Given the description of an element on the screen output the (x, y) to click on. 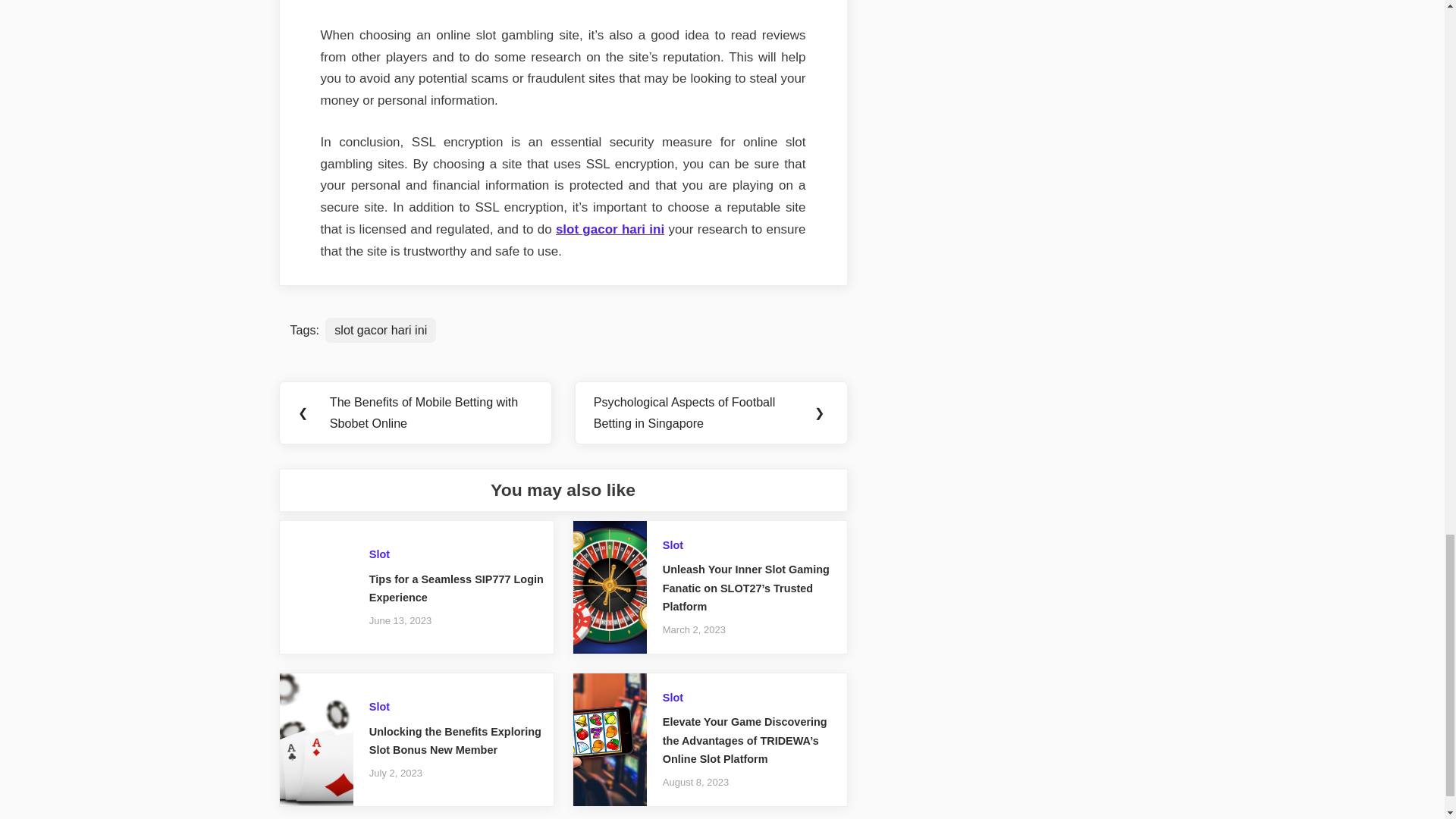
Slot (379, 553)
Tips for a Seamless SIP777 Login Experience (456, 588)
Slot (672, 544)
Slot (379, 706)
slot gacor hari ini (609, 228)
Slot (672, 697)
Unlocking the Benefits Exploring Slot Bonus New Member (455, 740)
slot gacor hari ini (379, 329)
